Given the description of an element on the screen output the (x, y) to click on. 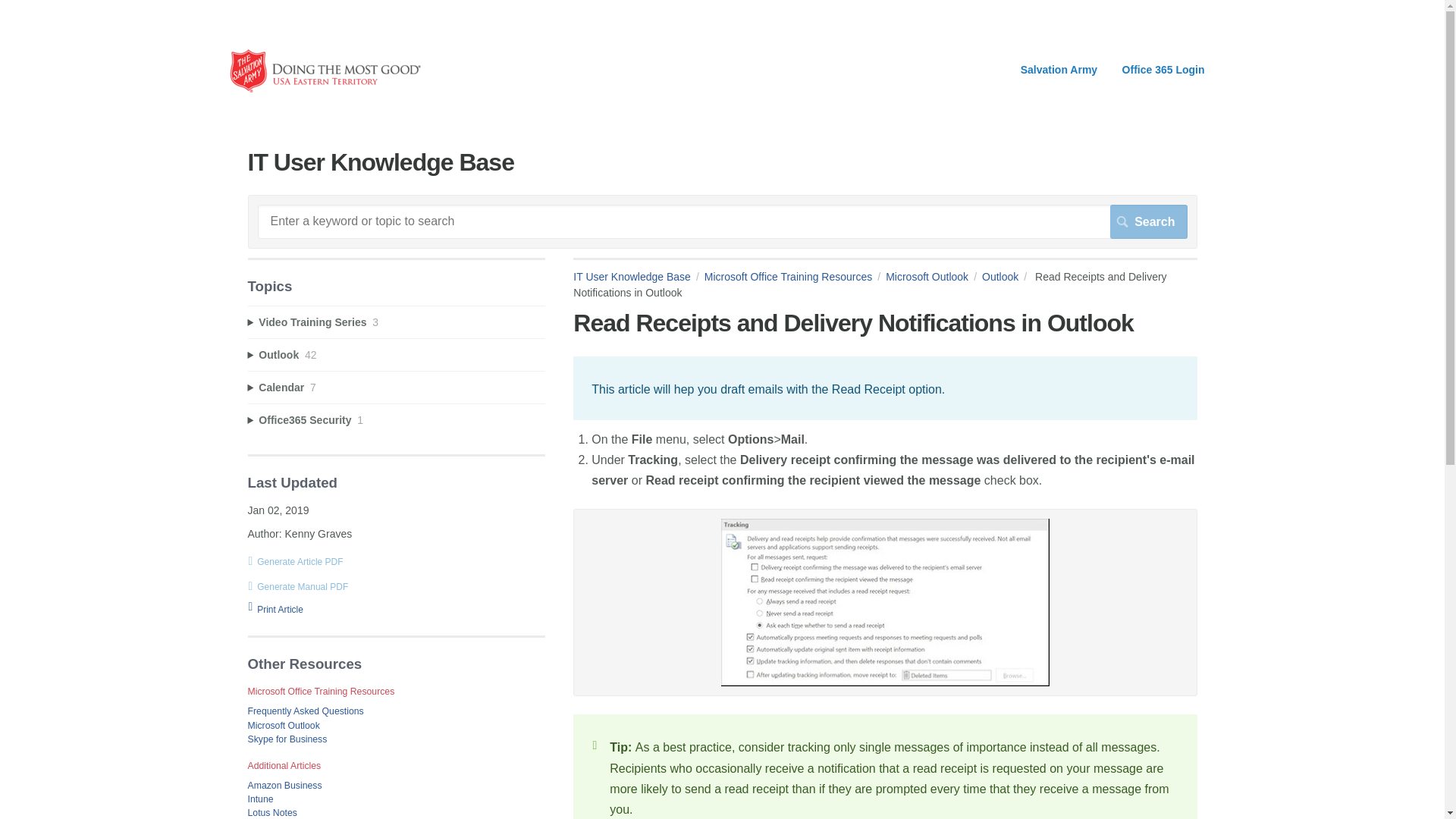
IT User Knowledge Base (324, 89)
Outlook (1006, 276)
Search (1147, 221)
IT User Knowledge Base (638, 276)
Search (1147, 221)
Microsoft Office Training Resources (794, 276)
Search (1147, 221)
Microsoft Outlook (933, 276)
Salvation Army (1058, 69)
Office 365 Login (1163, 69)
